Given the description of an element on the screen output the (x, y) to click on. 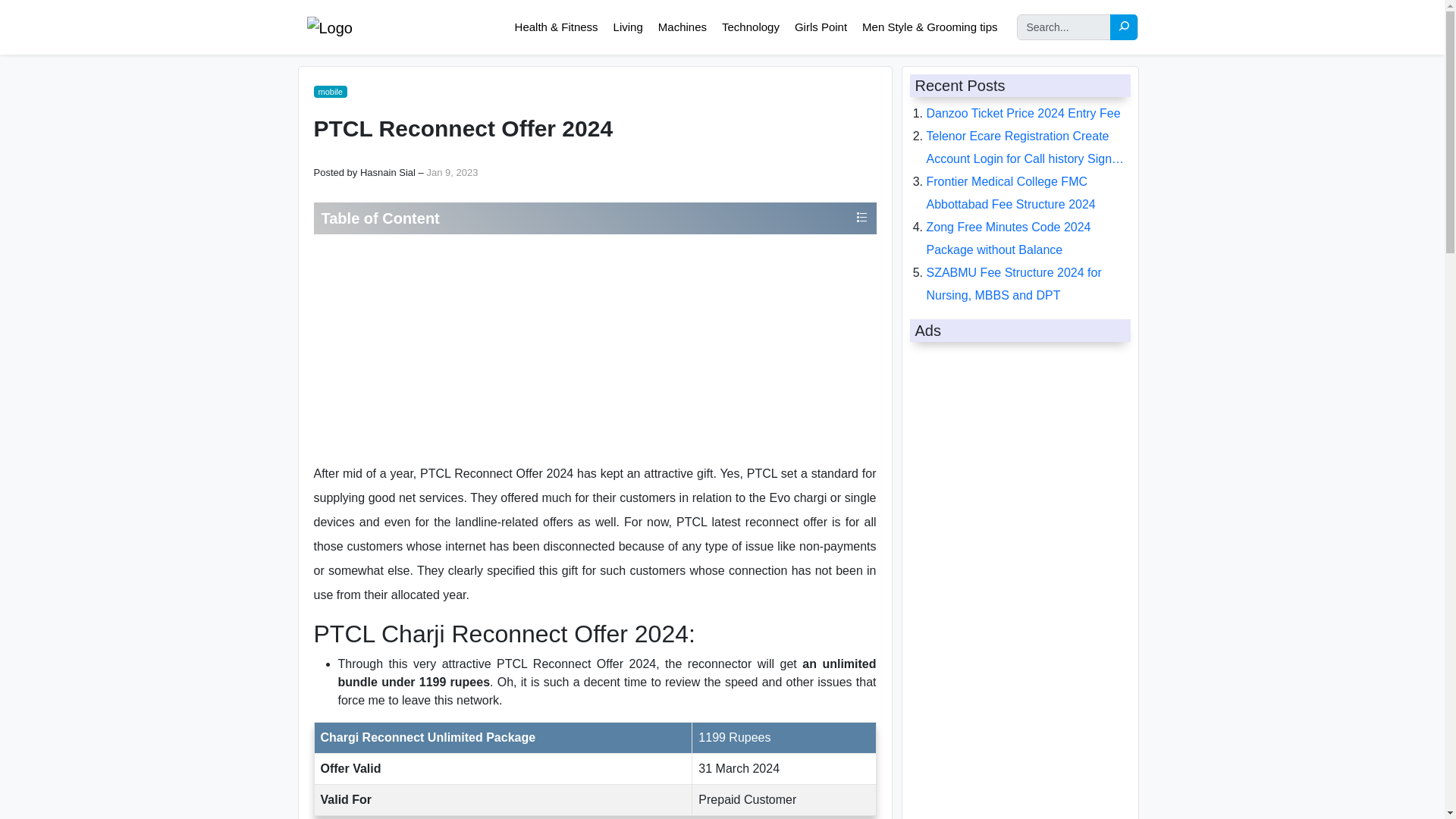
Zong Free Minutes Code 2024 Package without Balance (1008, 238)
Living (628, 26)
mobile (330, 91)
Danzoo Ticket Price 2024 Entry Fee (1023, 113)
Girls Point (820, 26)
SZABMU Fee Structure 2024 for Nursing, MBBS and DPT (1014, 284)
Machines (681, 26)
Technology (750, 26)
Frontier Medical College FMC Abbottabad Fee Structure 2024 (1011, 192)
Advertisement (595, 347)
